Given the description of an element on the screen output the (x, y) to click on. 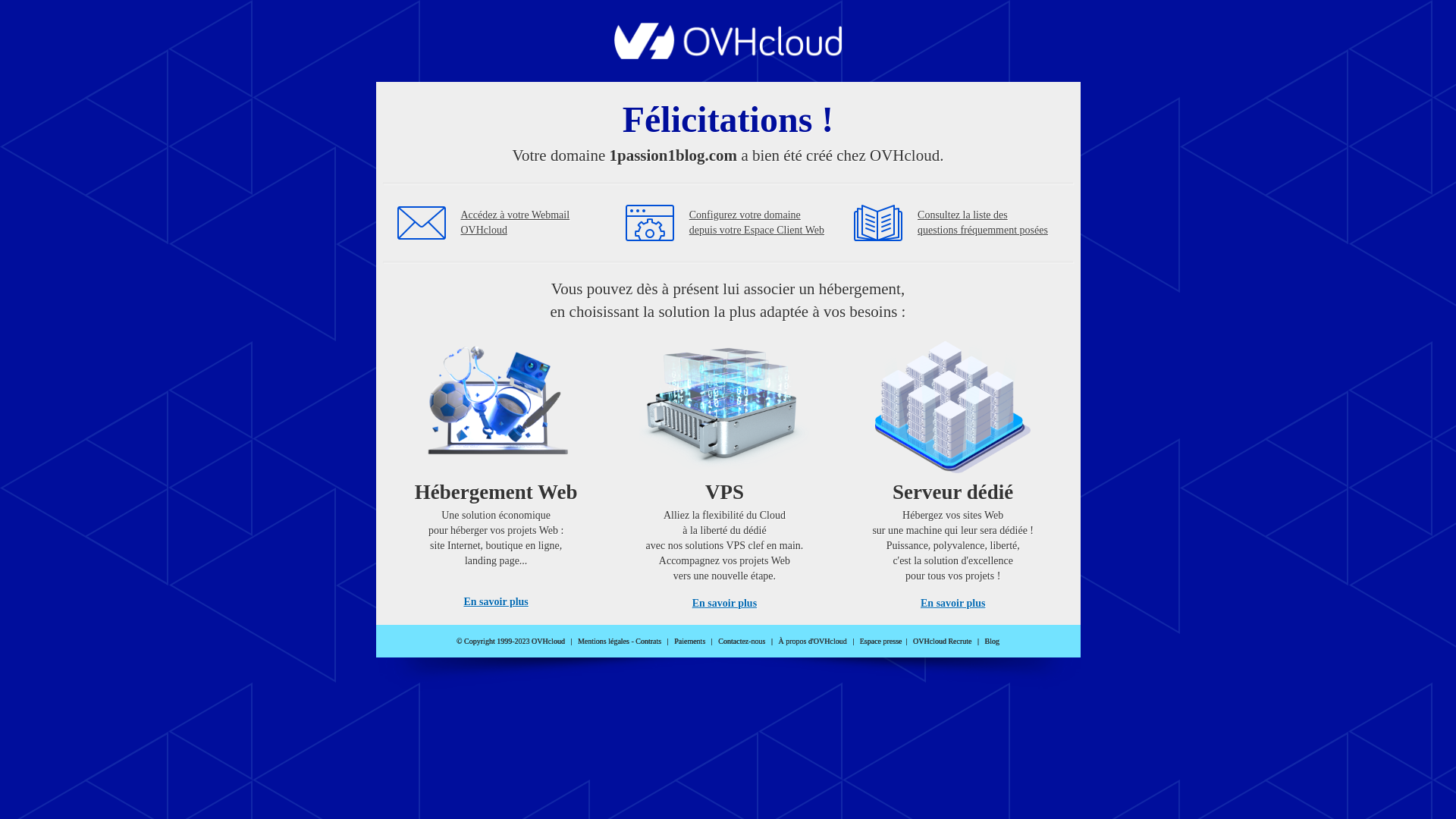
En savoir plus Element type: text (724, 602)
Contactez-nous Element type: text (741, 641)
Configurez votre domaine
depuis votre Espace Client Web Element type: text (756, 222)
VPS Element type: hover (724, 469)
En savoir plus Element type: text (495, 601)
Espace presse Element type: text (880, 641)
Blog Element type: text (992, 641)
En savoir plus Element type: text (952, 602)
OVHcloud Recrute Element type: text (942, 641)
OVHcloud Element type: hover (727, 54)
Paiements Element type: text (689, 641)
